Given the description of an element on the screen output the (x, y) to click on. 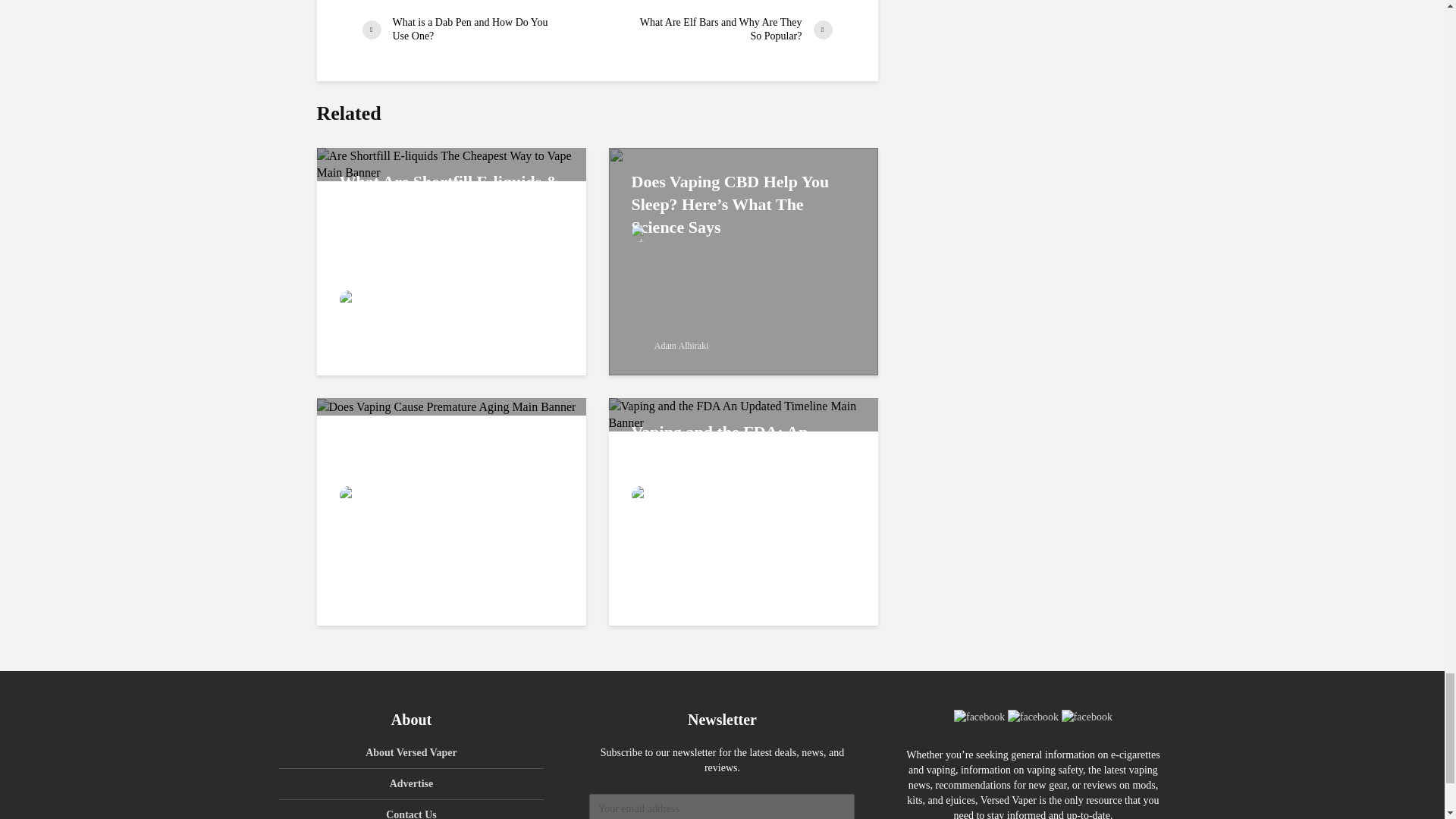
Vape Face: Does Vaping Cause Premature Aging? (446, 405)
Vaping and the FDA: An Updated Timeline (742, 413)
